Given the description of an element on the screen output the (x, y) to click on. 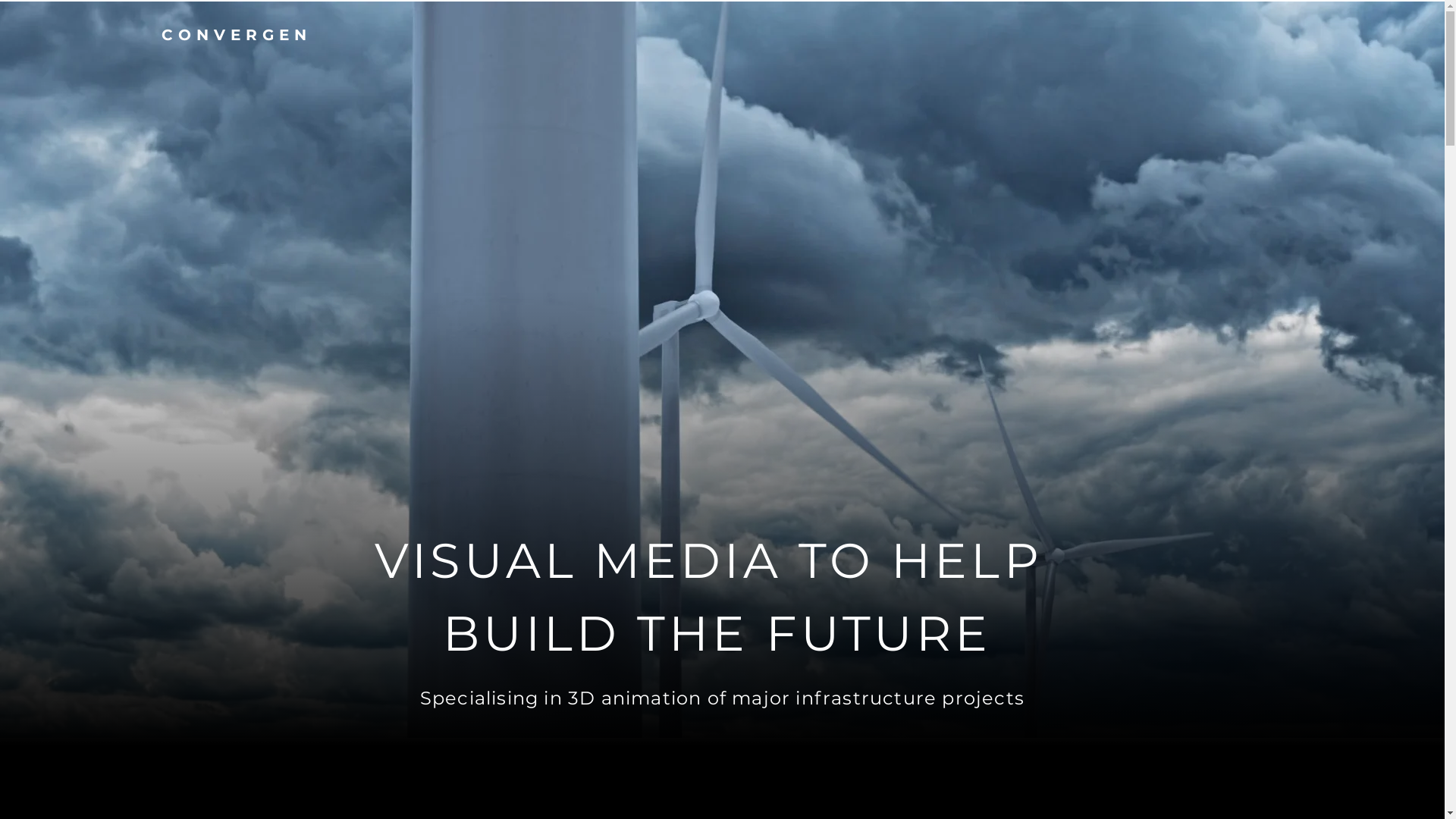
CONVERGEN Element type: text (236, 34)
